Given the description of an element on the screen output the (x, y) to click on. 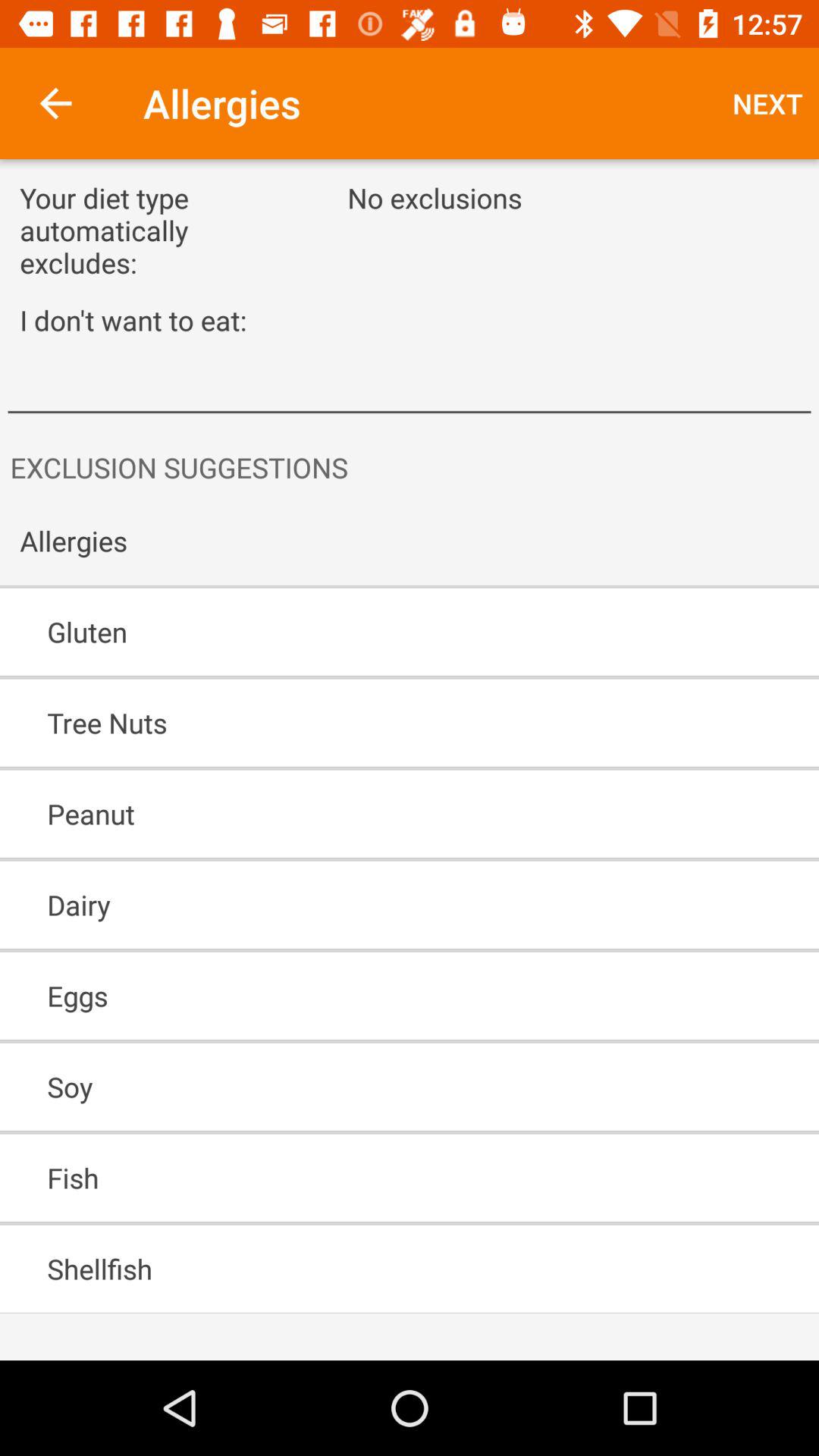
turn off the item above the     peanut icon (365, 722)
